Given the description of an element on the screen output the (x, y) to click on. 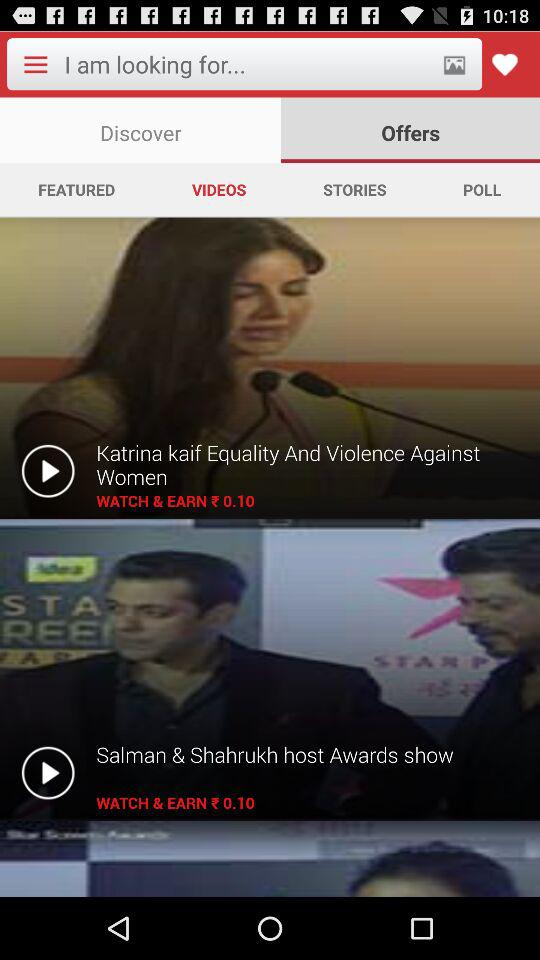
search by image (453, 63)
